Given the description of an element on the screen output the (x, y) to click on. 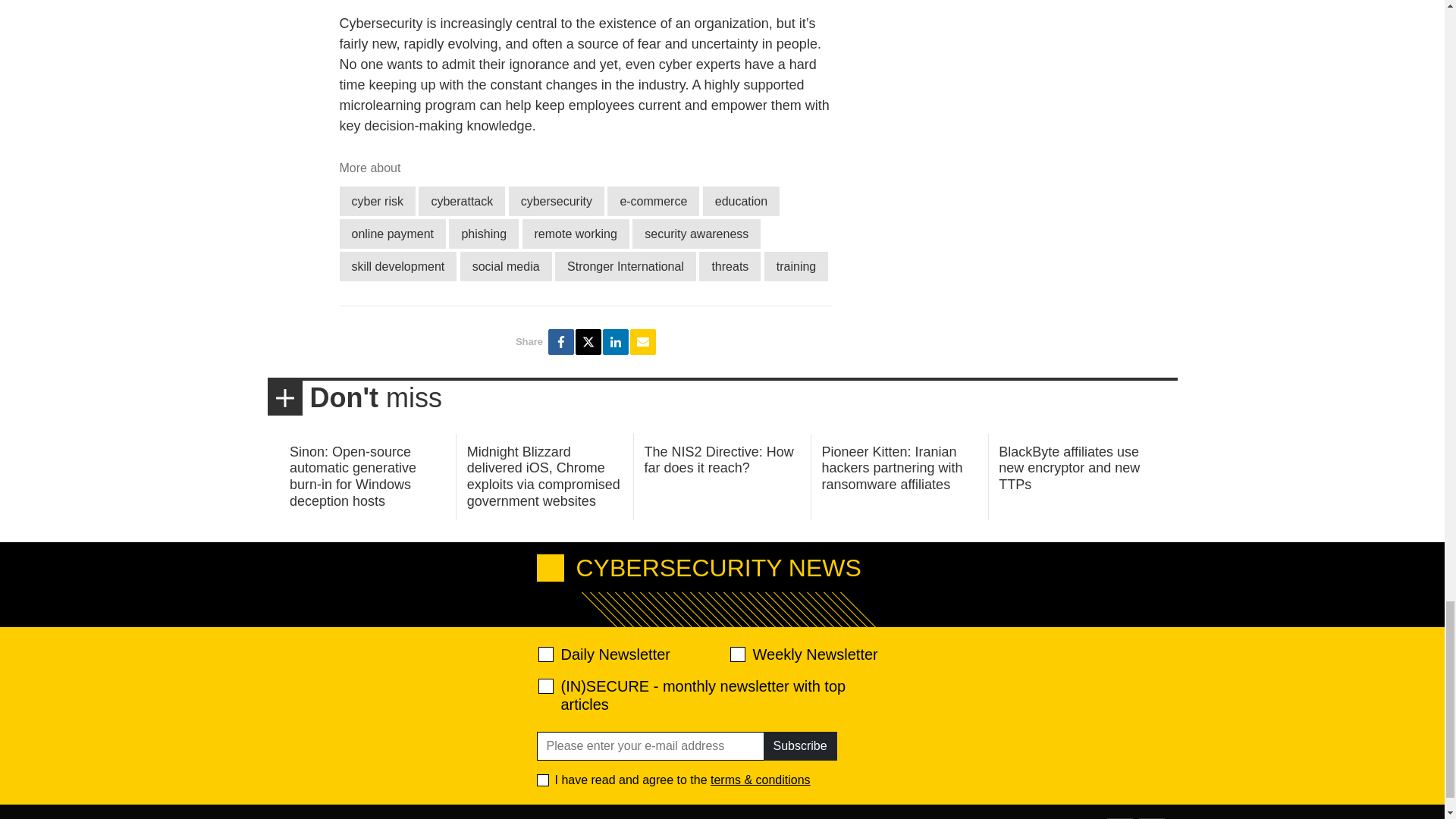
education (740, 201)
online payment (392, 233)
social media (505, 266)
e-commerce (652, 201)
security awareness (695, 233)
cybersecurity (556, 201)
threats (729, 266)
remote working (575, 233)
d2d471aafa (736, 654)
Stronger International (624, 266)
